Given the description of an element on the screen output the (x, y) to click on. 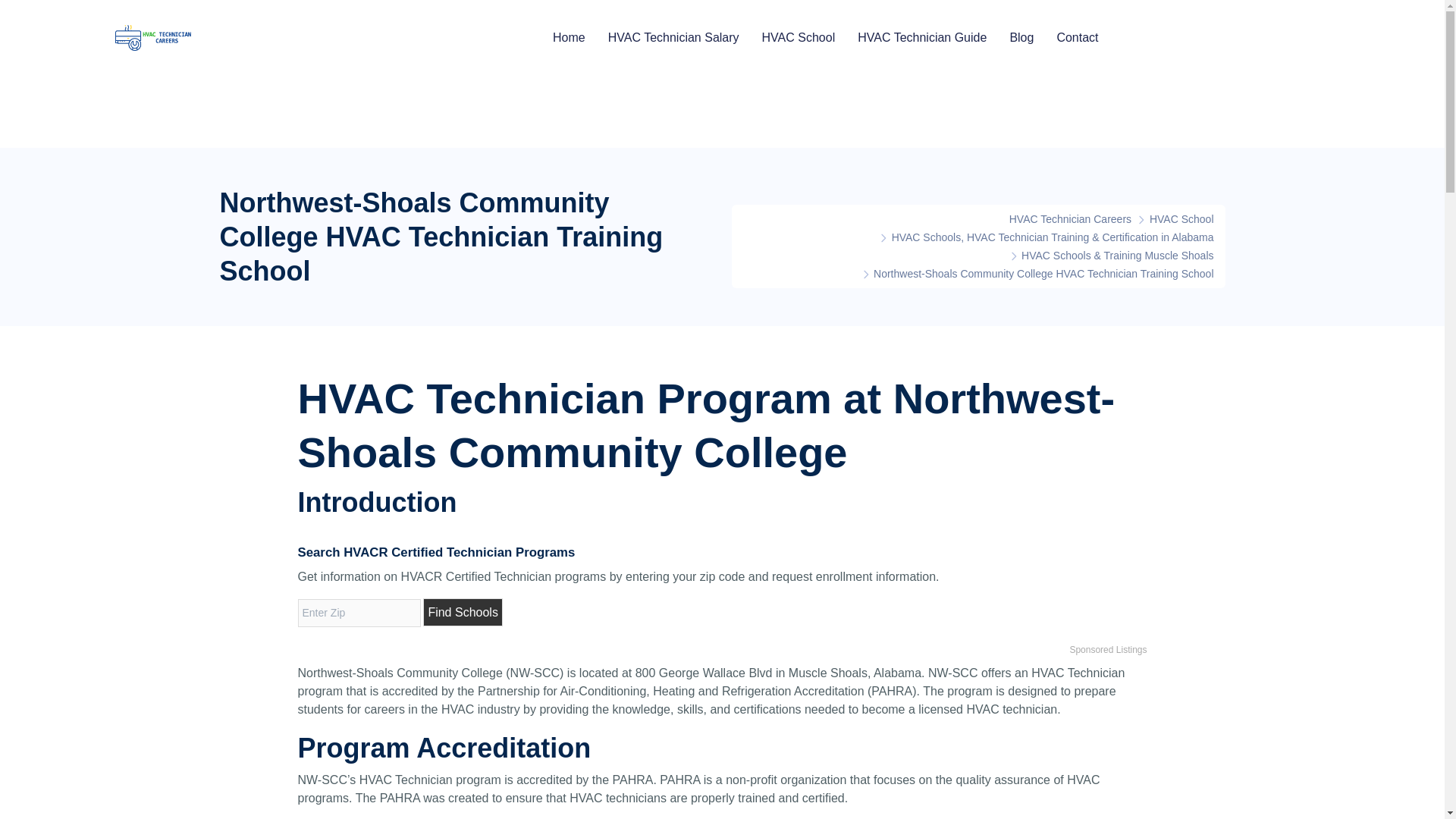
Go to HVAC Technician Careers. (1062, 218)
Home (569, 37)
HVAC Technician Guide (922, 37)
Blog (1021, 37)
HVAC Technician Careers (1062, 218)
Find Schools (462, 612)
Contact (1077, 37)
Find Schools (462, 612)
HVAC School (1182, 218)
HVAC Technician Salary (673, 37)
